Given the description of an element on the screen output the (x, y) to click on. 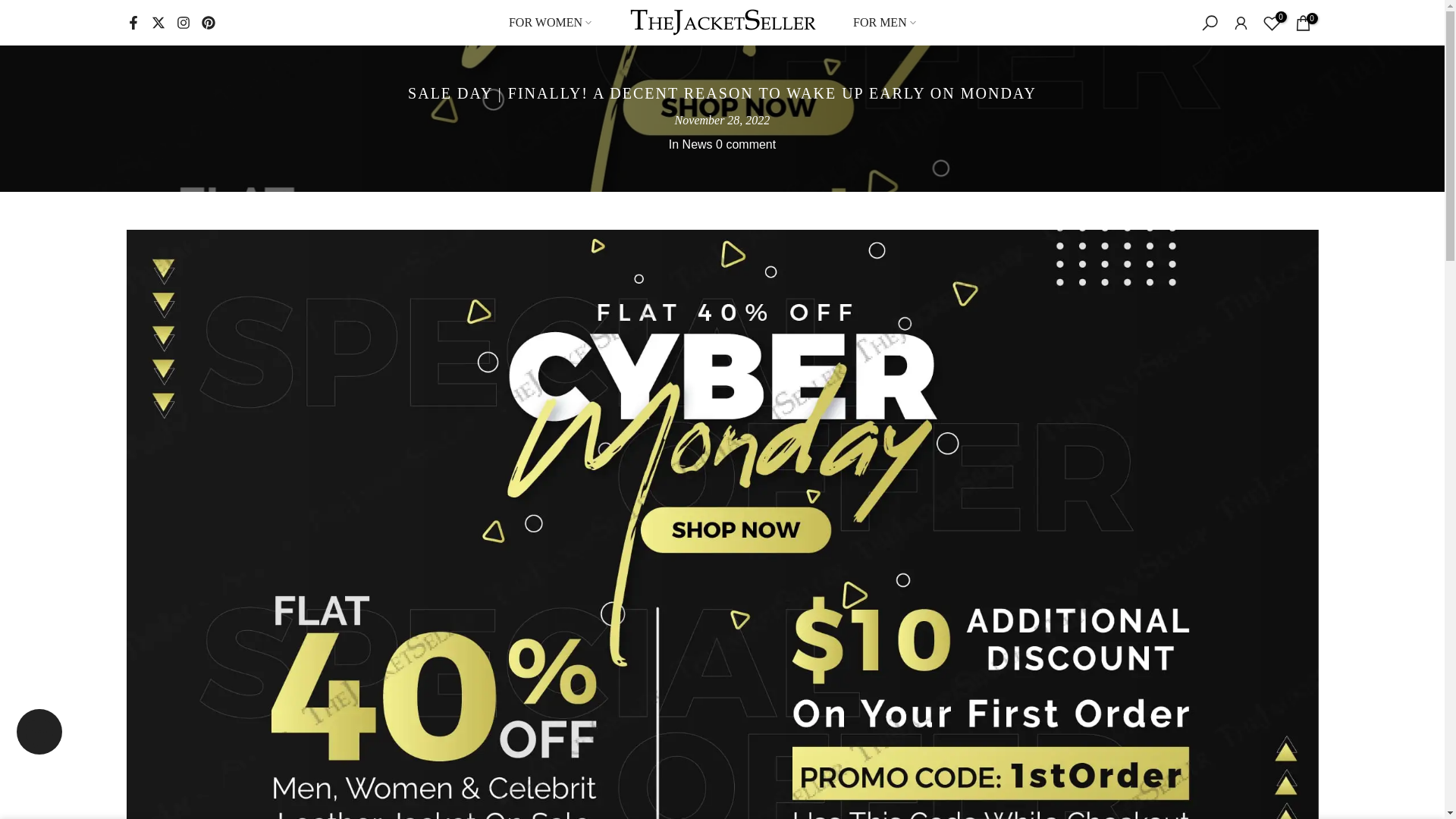
FOR MEN (885, 22)
FOR WOMEN (549, 22)
Skip to content (10, 7)
